Given the description of an element on the screen output the (x, y) to click on. 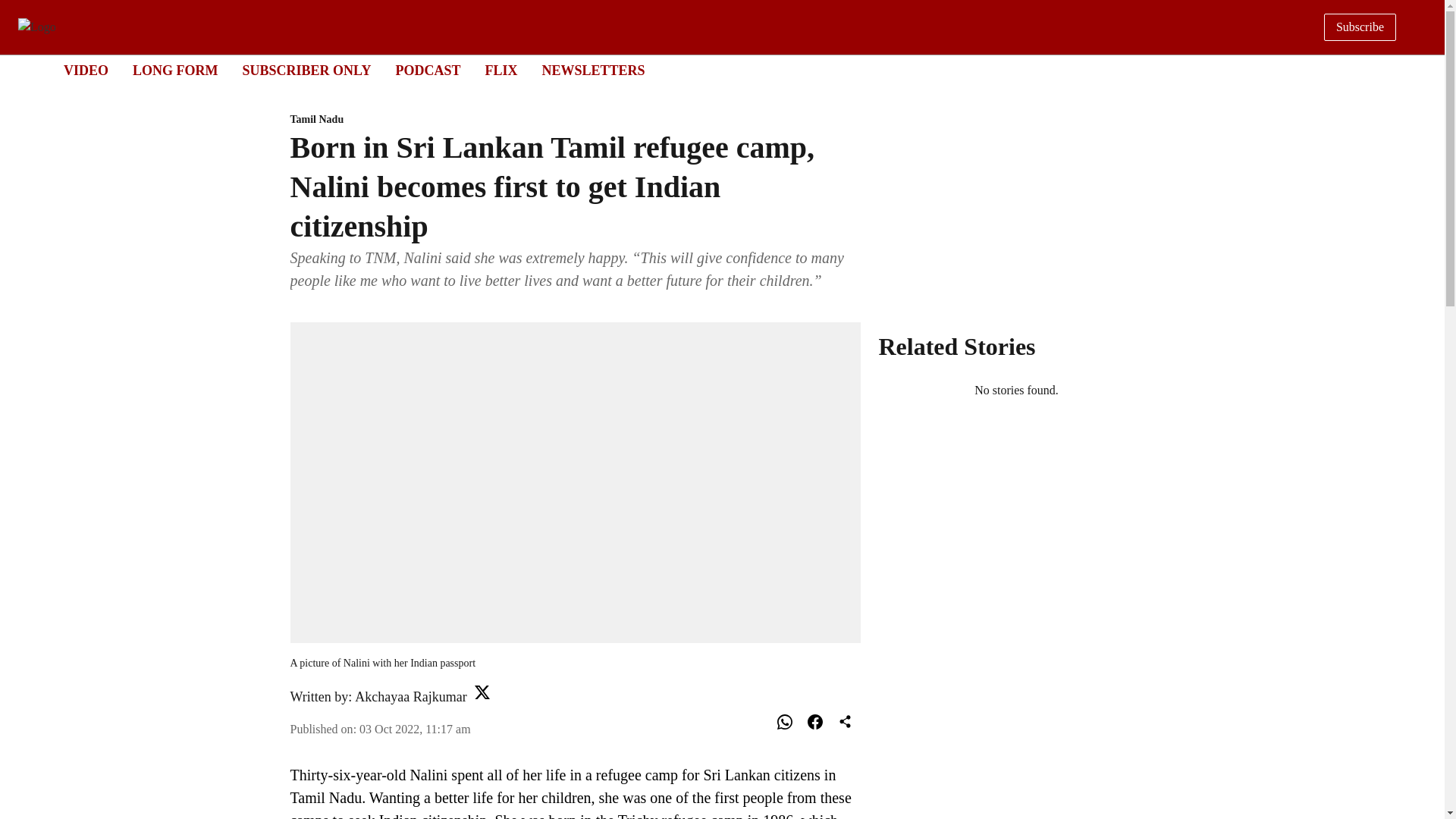
PODCAST (427, 70)
2022-10-03 11:17 (414, 727)
VIDEO (85, 70)
Tamil Nadu (574, 119)
SUBSCRIBER ONLY (307, 70)
FLIX (500, 70)
NEWSLETTERS (593, 70)
Akchayaa Rajkumar (707, 70)
LONG FORM (410, 696)
